Given the description of an element on the screen output the (x, y) to click on. 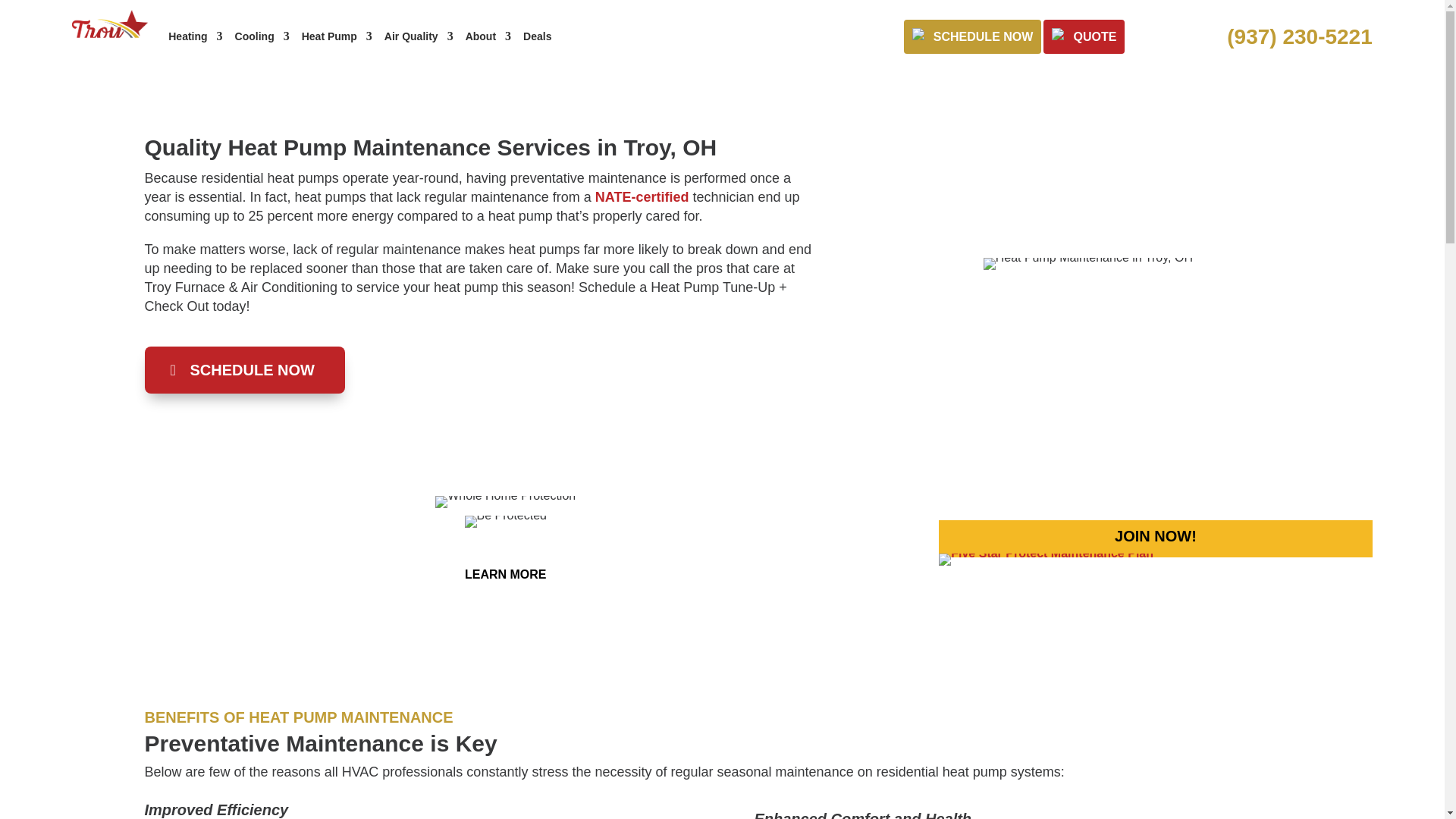
Whole Home Protection (505, 501)
Air Quality (418, 36)
Cooling (261, 36)
Be Protected (505, 521)
Heat Pump (336, 36)
NATE-certified (641, 196)
Heat Pump Maintenance in Troy, OH (1088, 263)
SCHEDULE NOW (243, 369)
Heating (195, 36)
Five Star Protect Maintenance Plan (1046, 559)
